Given the description of an element on the screen output the (x, y) to click on. 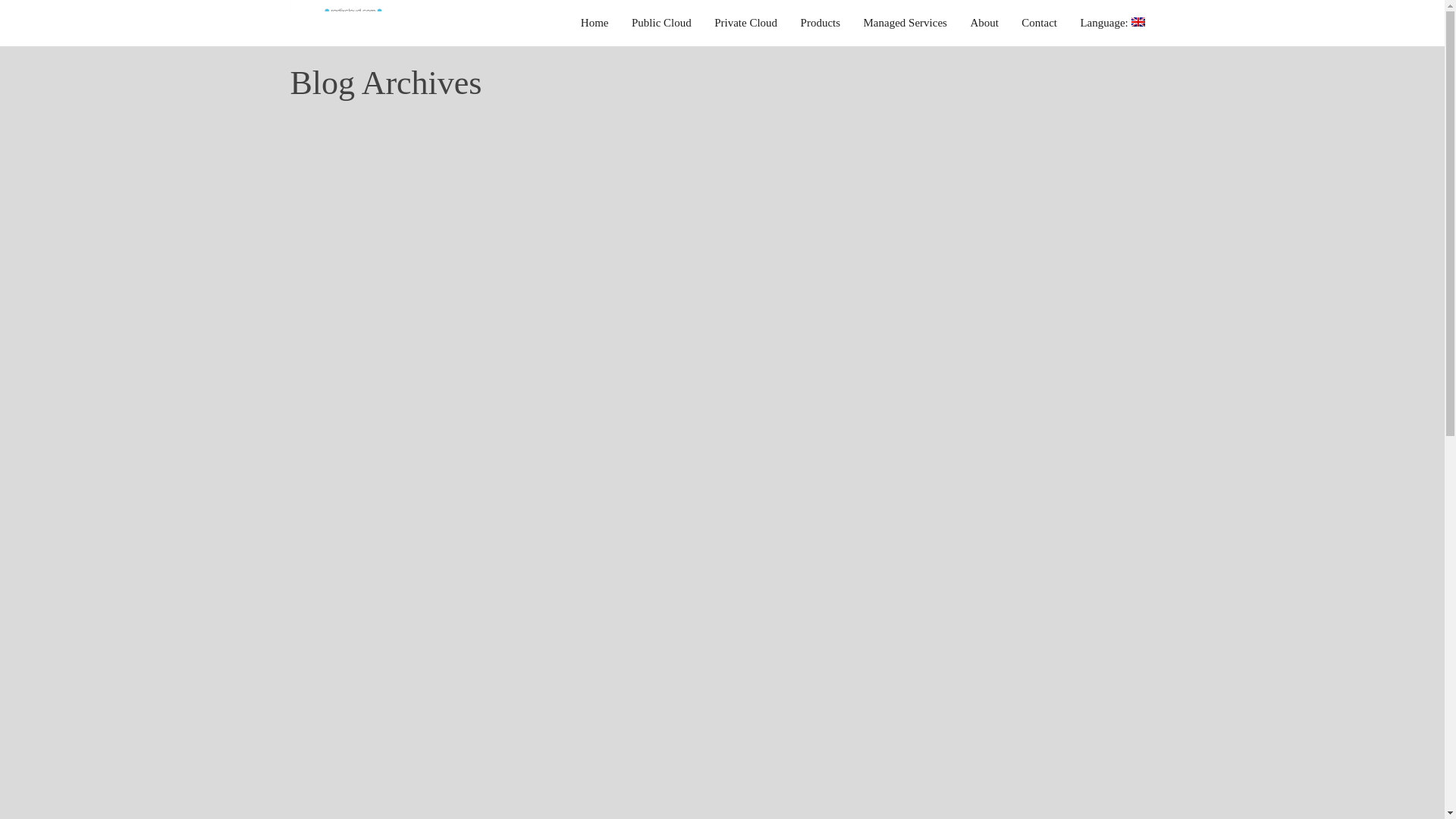
Managed Services (905, 22)
Public Cloud (661, 22)
English (1112, 22)
Language:  (1112, 22)
Private Cloud (745, 22)
